Given the description of an element on the screen output the (x, y) to click on. 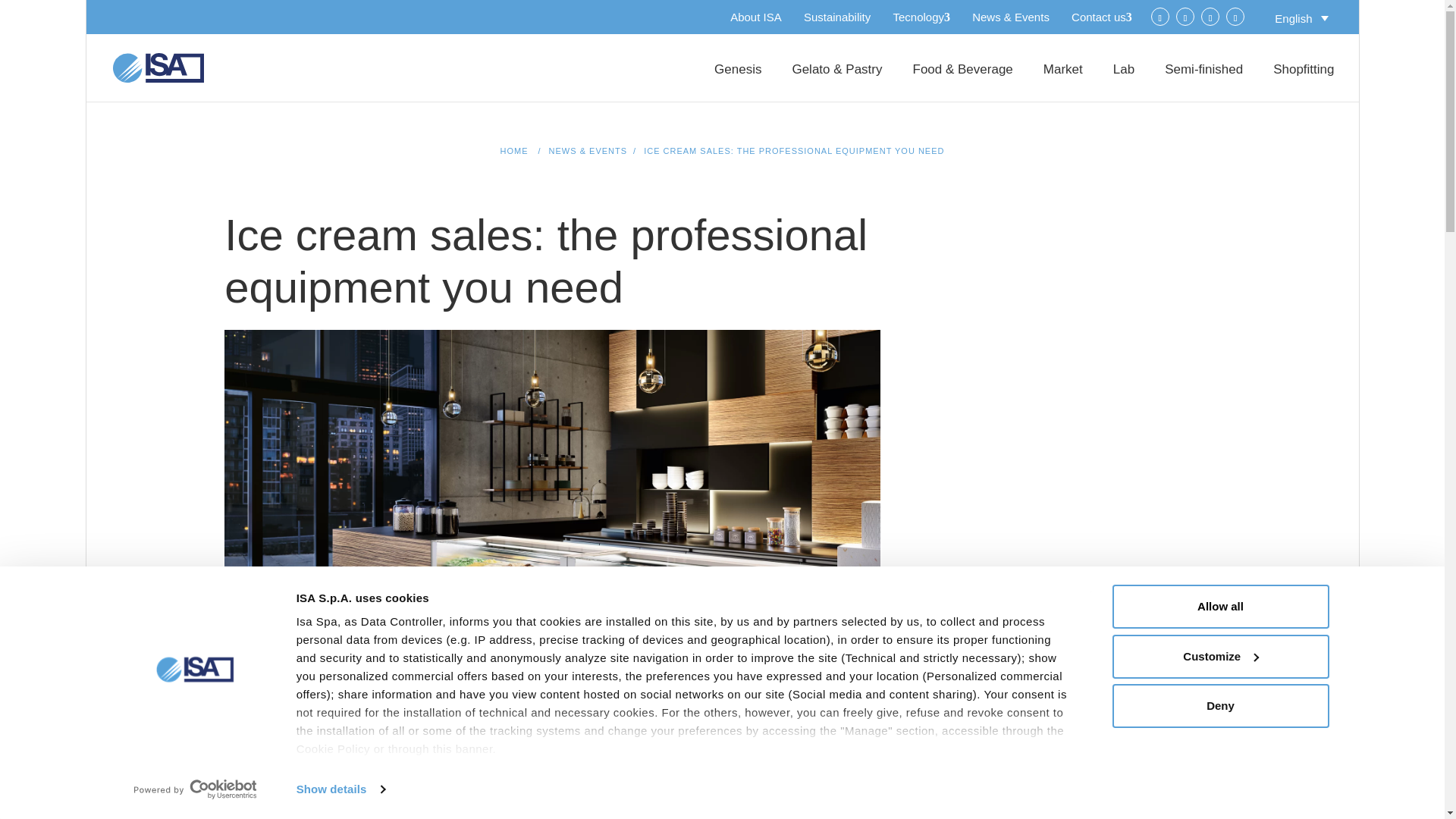
Show details (340, 789)
